Given the description of an element on the screen output the (x, y) to click on. 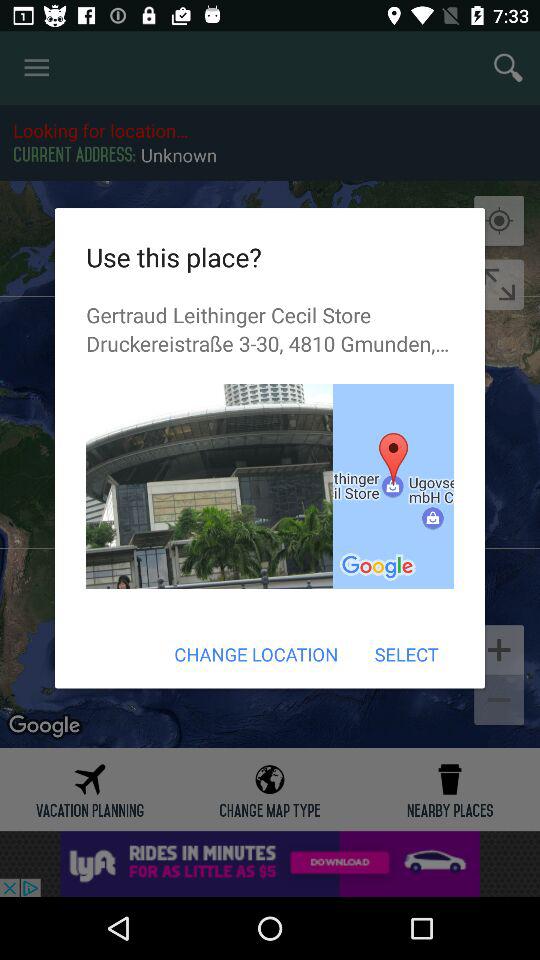
click the select (406, 654)
